Given the description of an element on the screen output the (x, y) to click on. 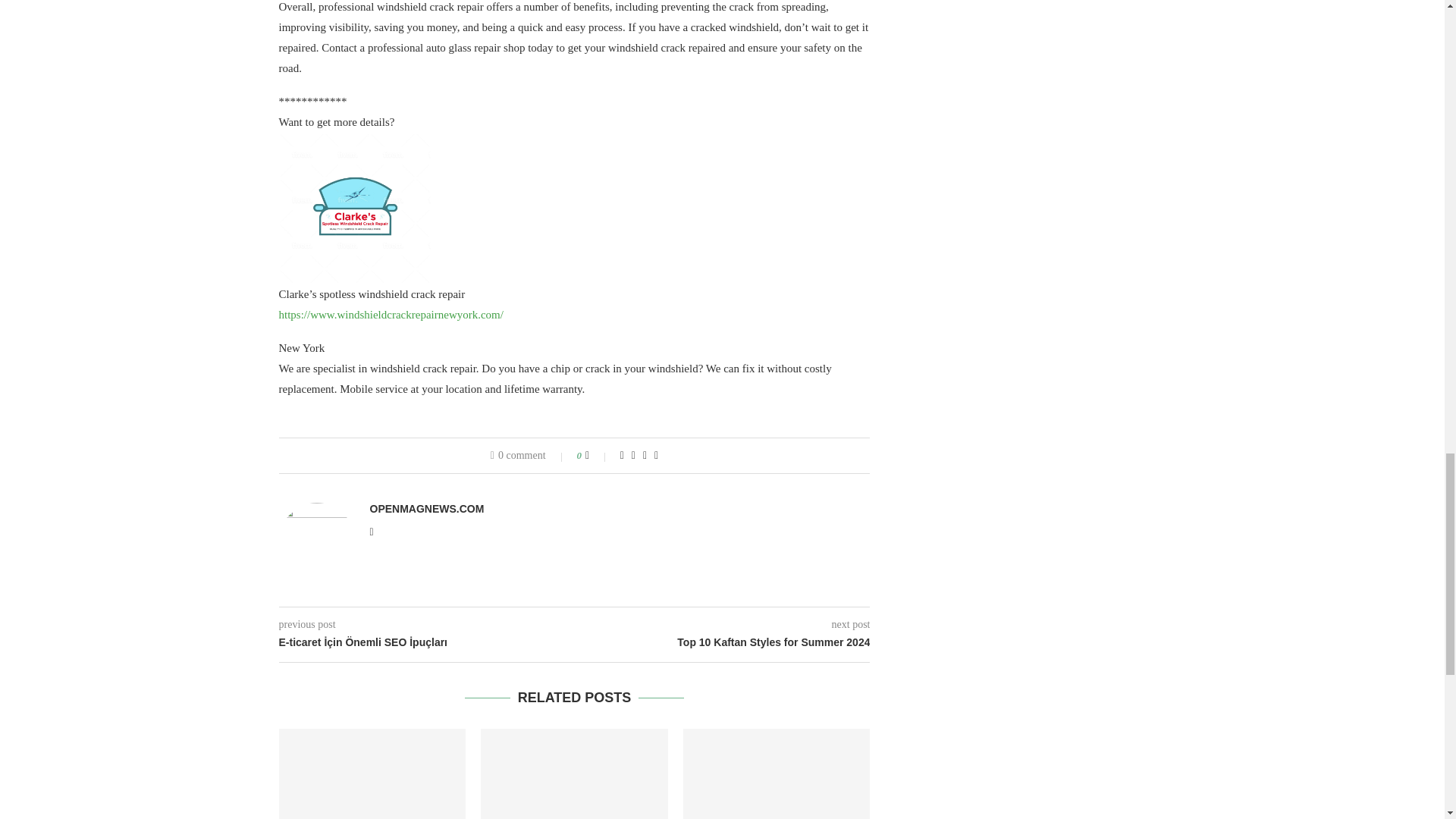
portones automaticos ferrobone (776, 773)
Author openmagnews.com (426, 508)
DIY crochet projects for home decor (372, 773)
Like (597, 455)
